Given the description of an element on the screen output the (x, y) to click on. 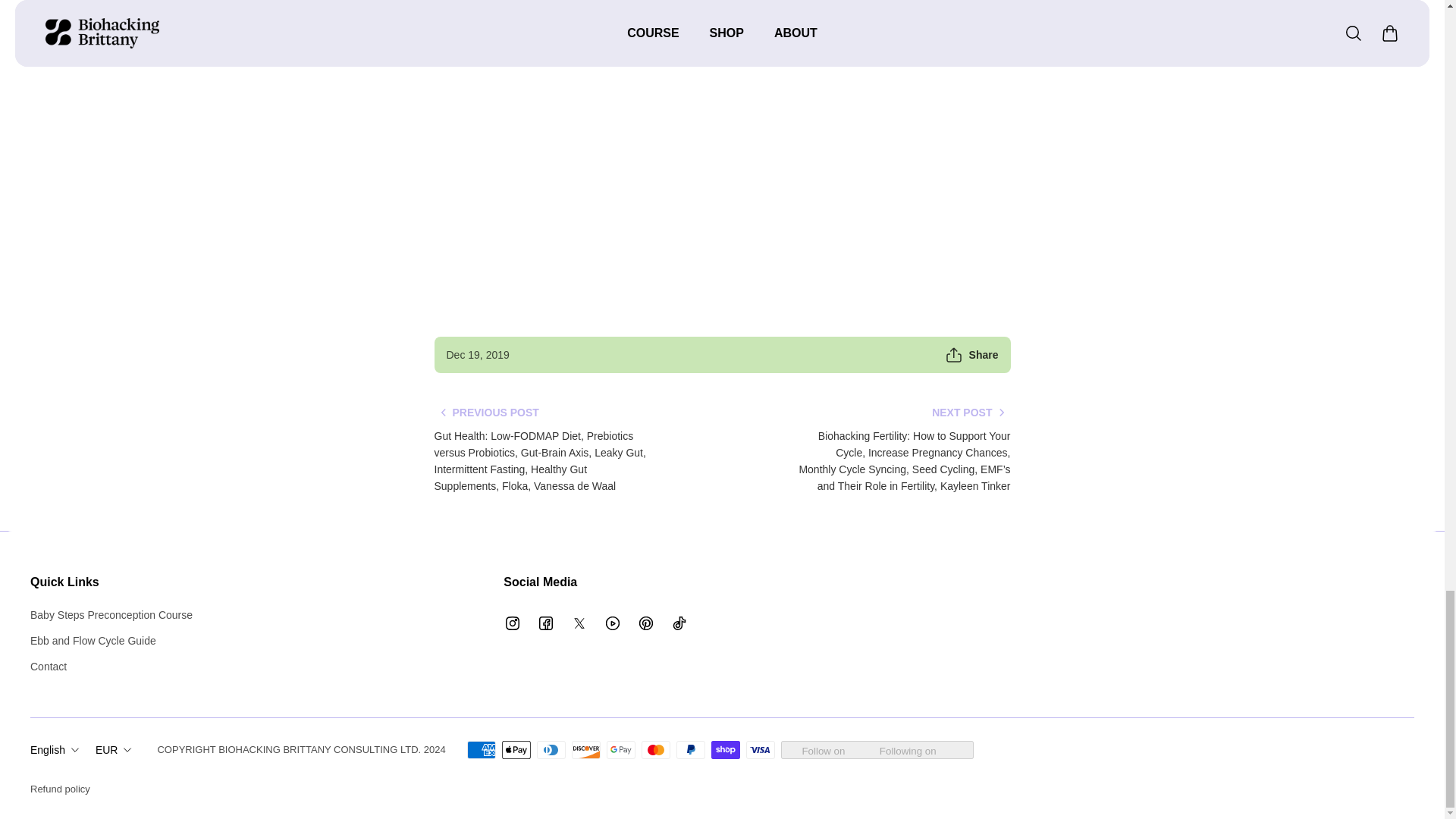
Baby Steps Preconception Course (111, 614)
Refund policy (60, 789)
PREVIOUS POST (485, 412)
Ebb and Flow Cycle Guide (111, 640)
Contact (111, 666)
Youtube: (458, 8)
NEXT POST (970, 412)
